Given the description of an element on the screen output the (x, y) to click on. 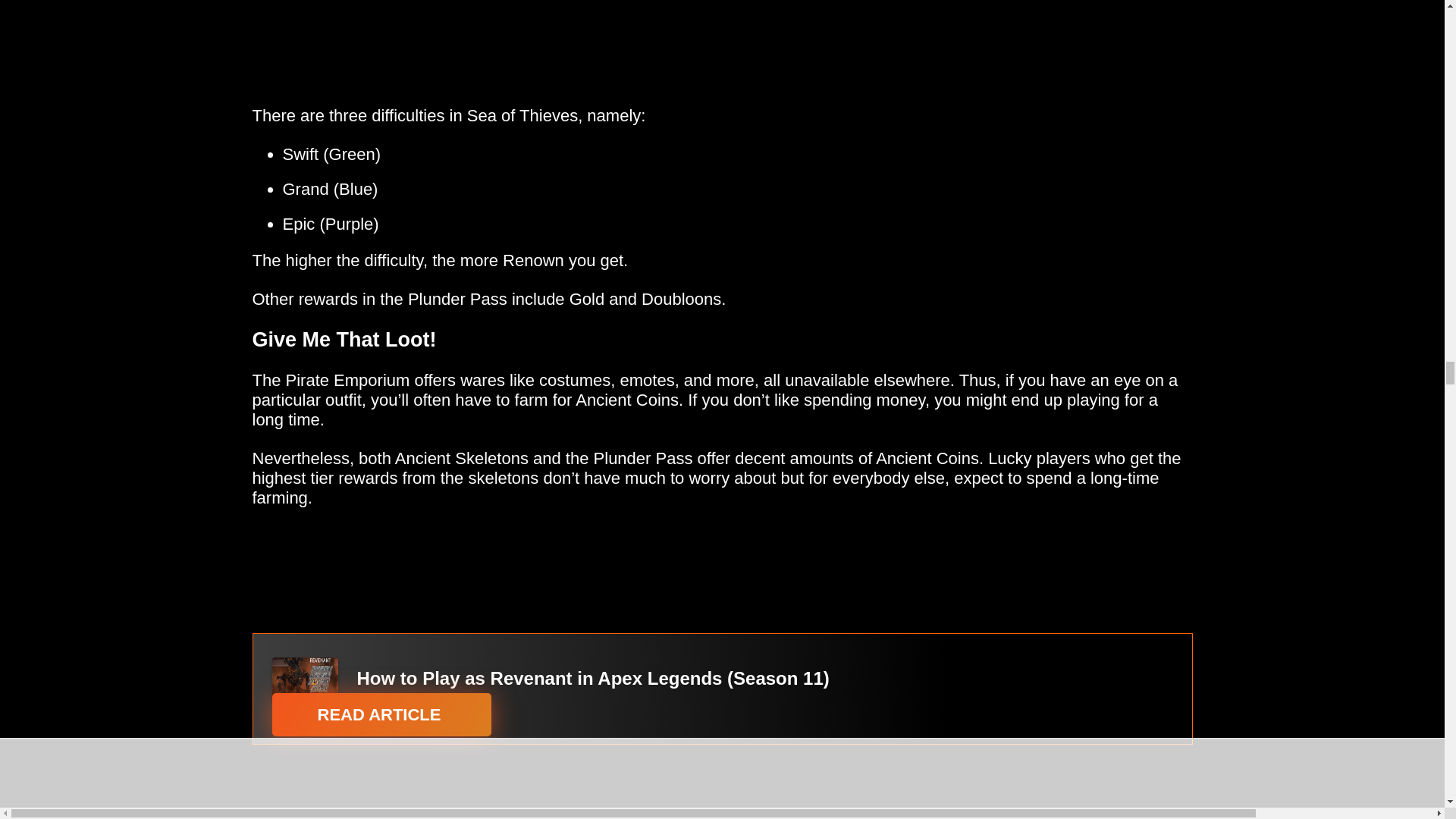
READ ARTICLE  (380, 714)
